Given the description of an element on the screen output the (x, y) to click on. 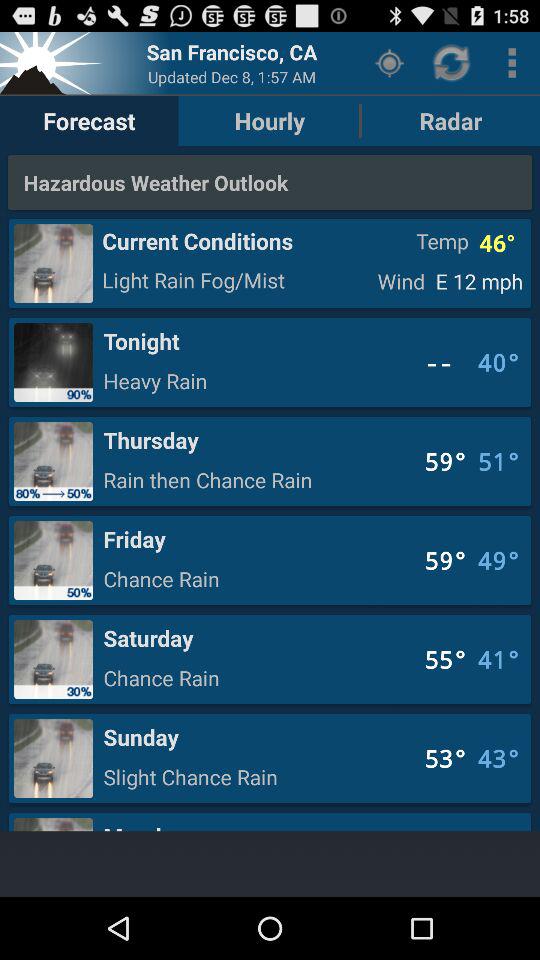
launch item next to hourly button (389, 62)
